Given the description of an element on the screen output the (x, y) to click on. 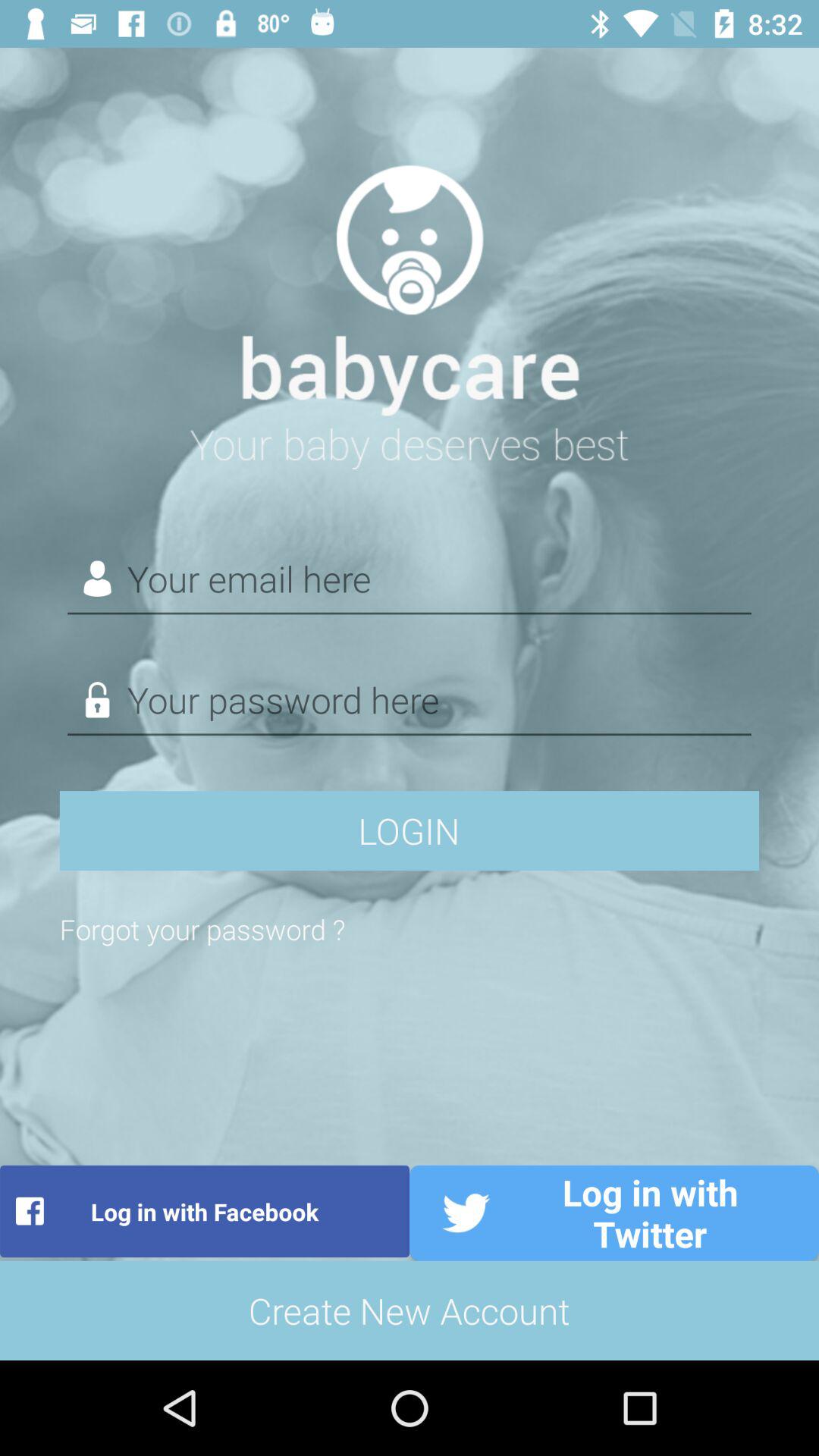
select the logo (409, 308)
